Given the description of an element on the screen output the (x, y) to click on. 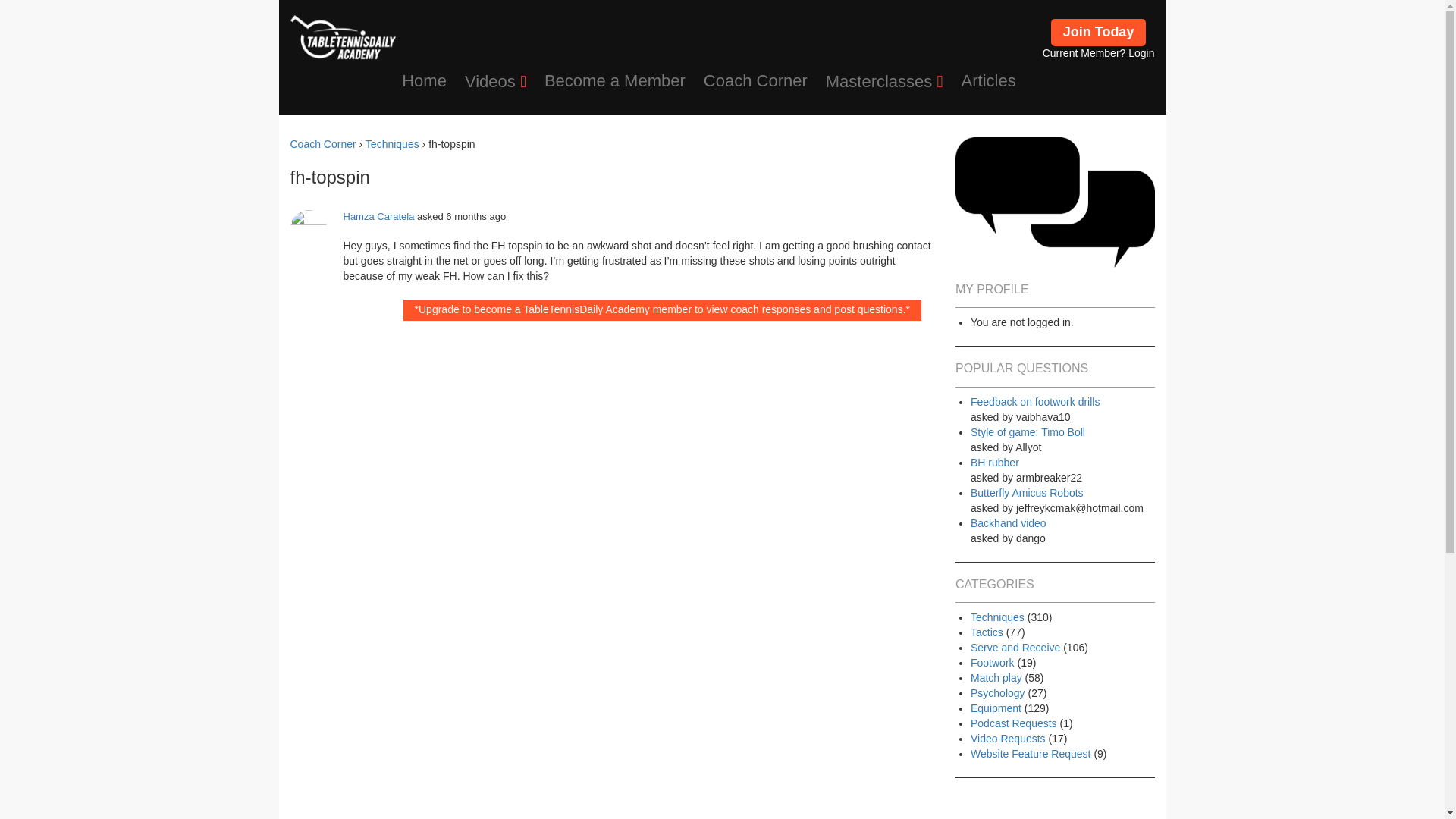
Home (424, 80)
Articles (984, 80)
Videos (495, 81)
Videos (495, 81)
Feedback on footwork drills (1062, 402)
Coach Corner (755, 80)
Techniques (392, 143)
Login (1141, 52)
Hamza Caratela (377, 215)
Become a Member (614, 80)
